Given the description of an element on the screen output the (x, y) to click on. 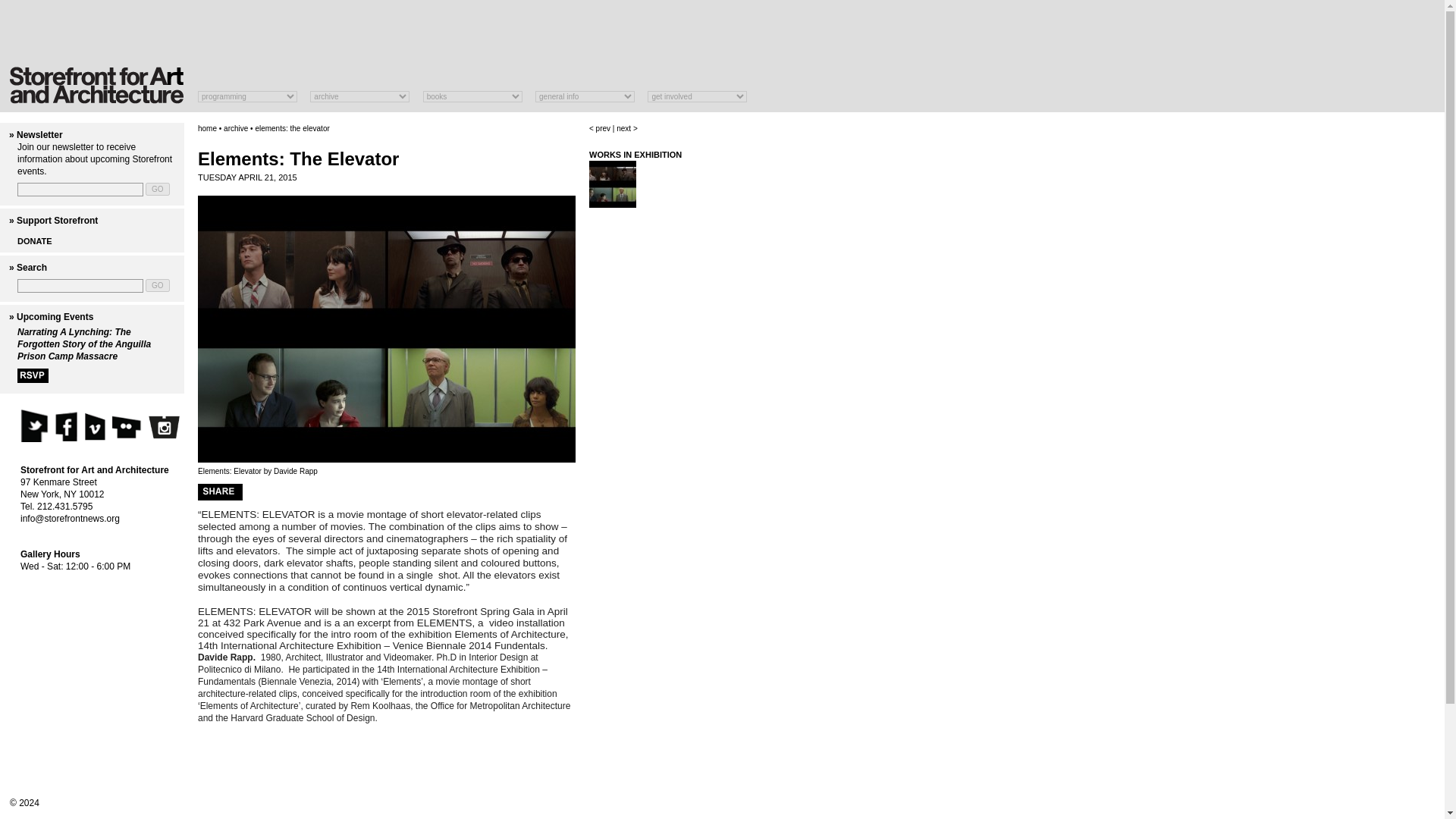
See our Instagram (164, 428)
home (207, 128)
archive (235, 128)
GO (157, 188)
See our Flickr photostream (128, 424)
Follow us on Twitter (33, 424)
GO (157, 285)
DONATE (34, 240)
GO (157, 285)
Support Storefront (56, 220)
Elements: Elevator by Davide Rapp (612, 204)
GO (157, 188)
